Given the description of an element on the screen output the (x, y) to click on. 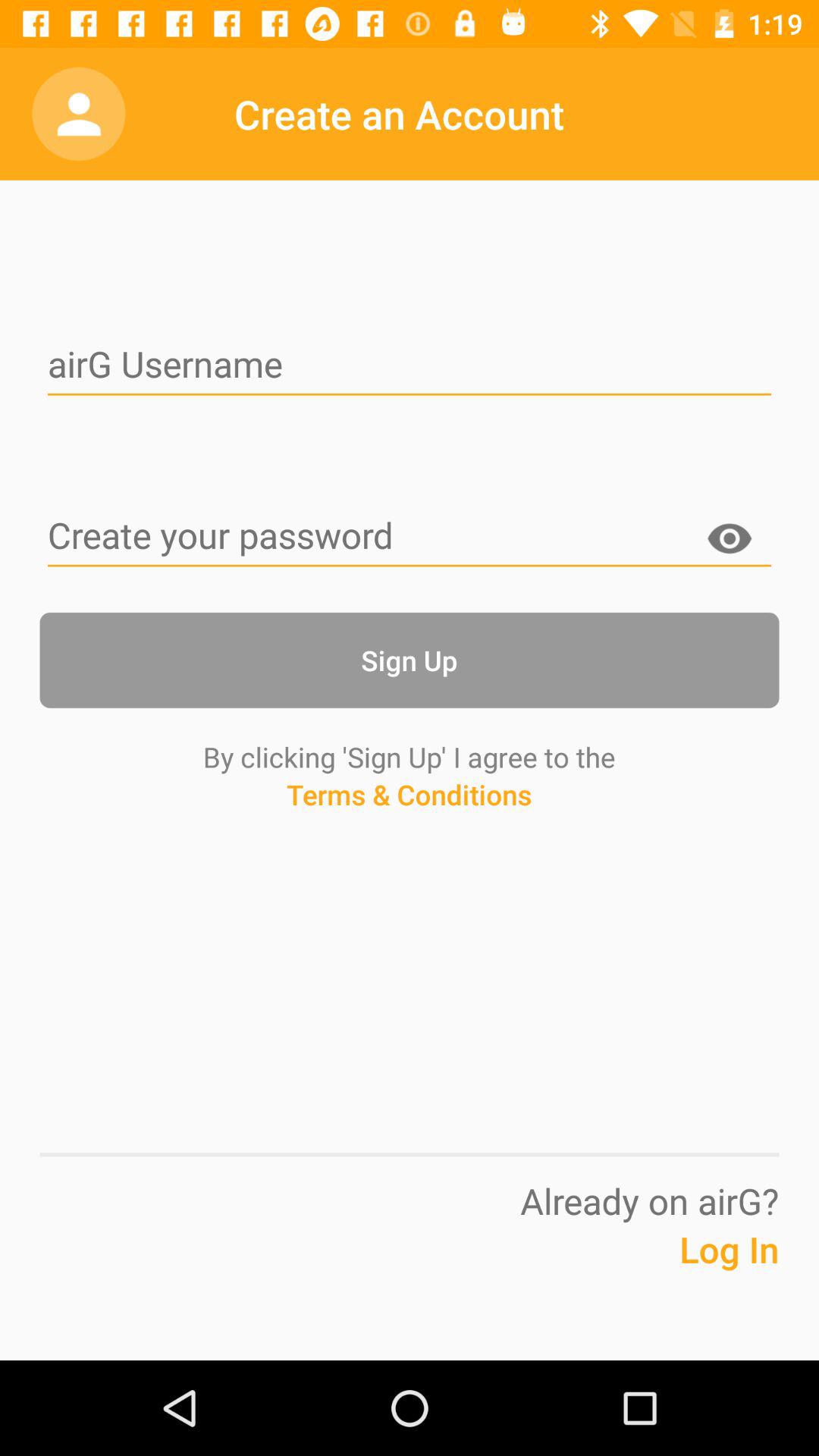
enter the password (409, 537)
